Given the description of an element on the screen output the (x, y) to click on. 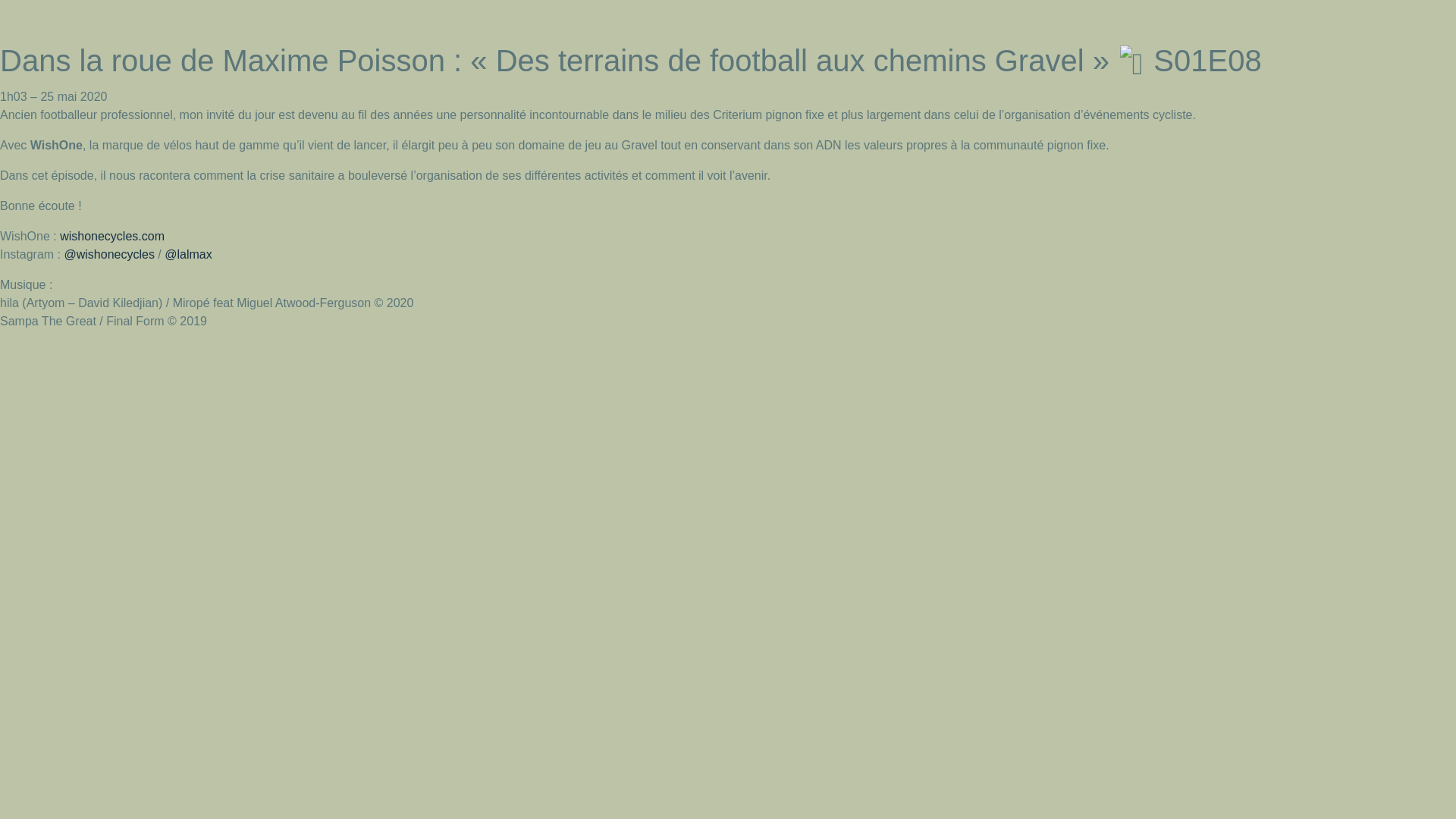
wishonecycles.com Element type: text (111, 235)
@wishonecycles Element type: text (108, 253)
Dans la roue Element type: text (42, 21)
@lalmax Element type: text (187, 253)
